Given the description of an element on the screen output the (x, y) to click on. 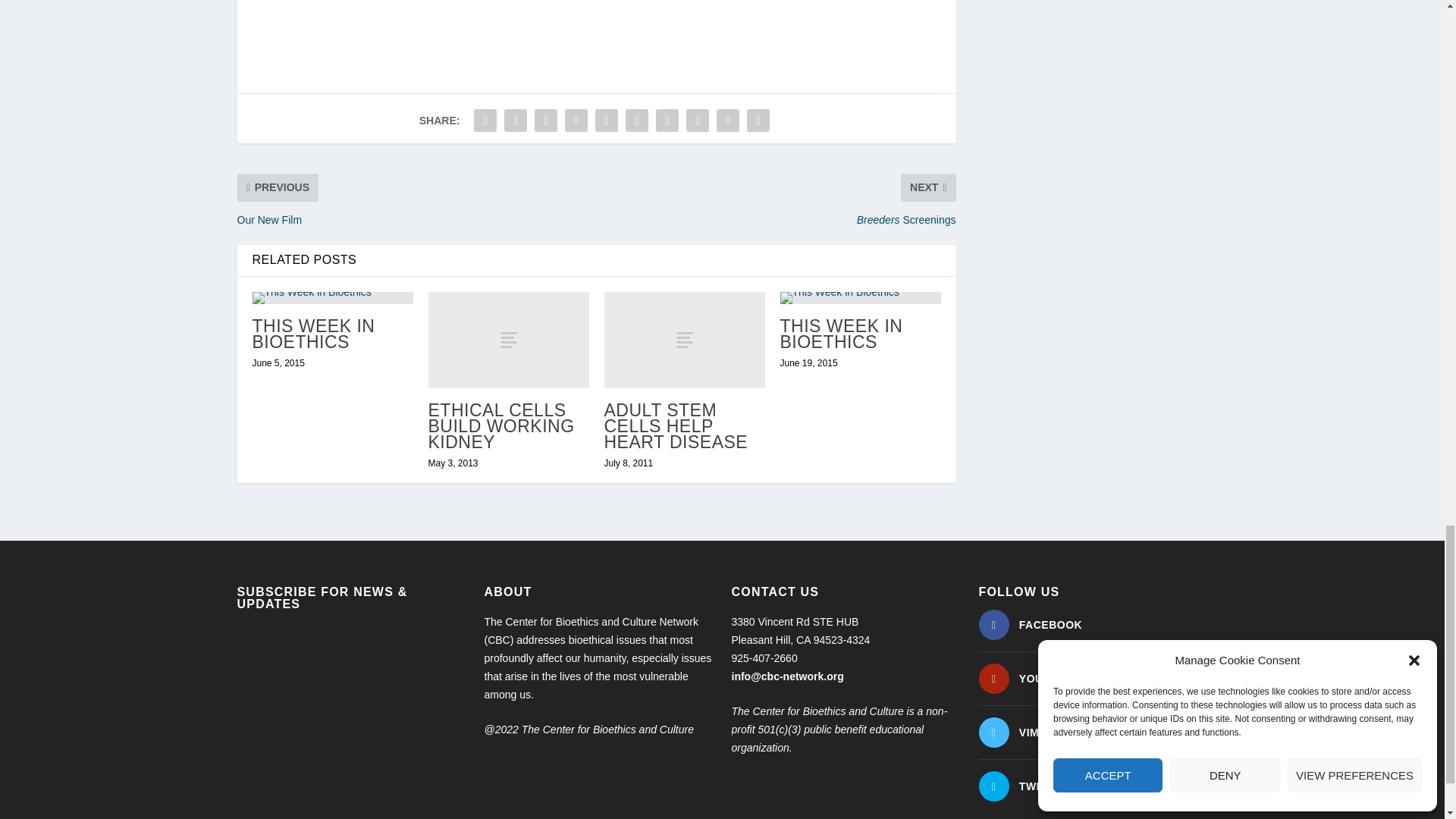
This Week in Bioethics (331, 297)
Adult Stem Cells Help Heart Disease (684, 339)
Ethical Cells Build Working Kidney (508, 339)
